Given the description of an element on the screen output the (x, y) to click on. 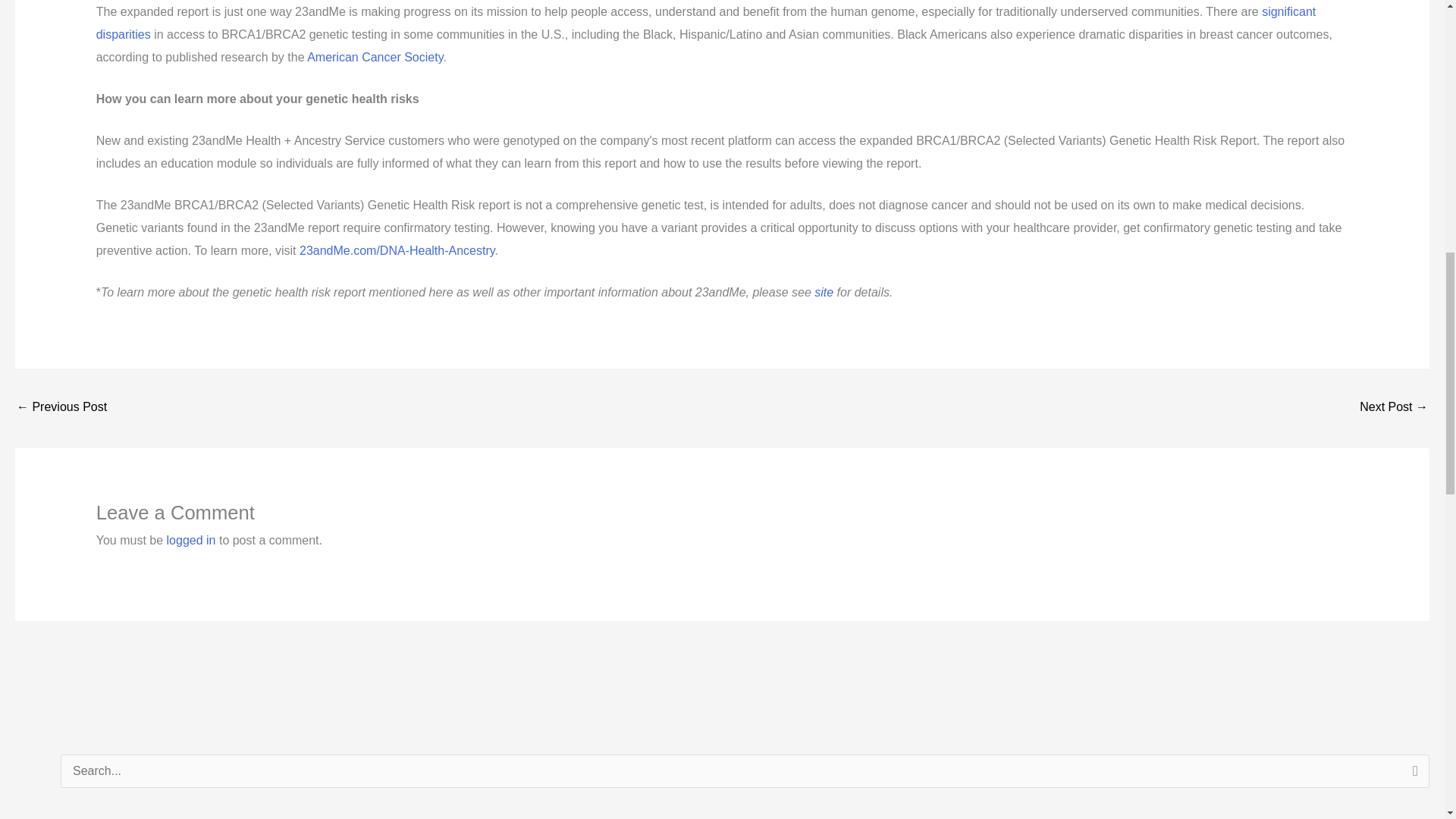
logged in (191, 540)
3 Native Entrepreneurs in Different Sectors (1393, 407)
significant disparities (706, 22)
site (822, 291)
American Cancer Society (374, 56)
